Given the description of an element on the screen output the (x, y) to click on. 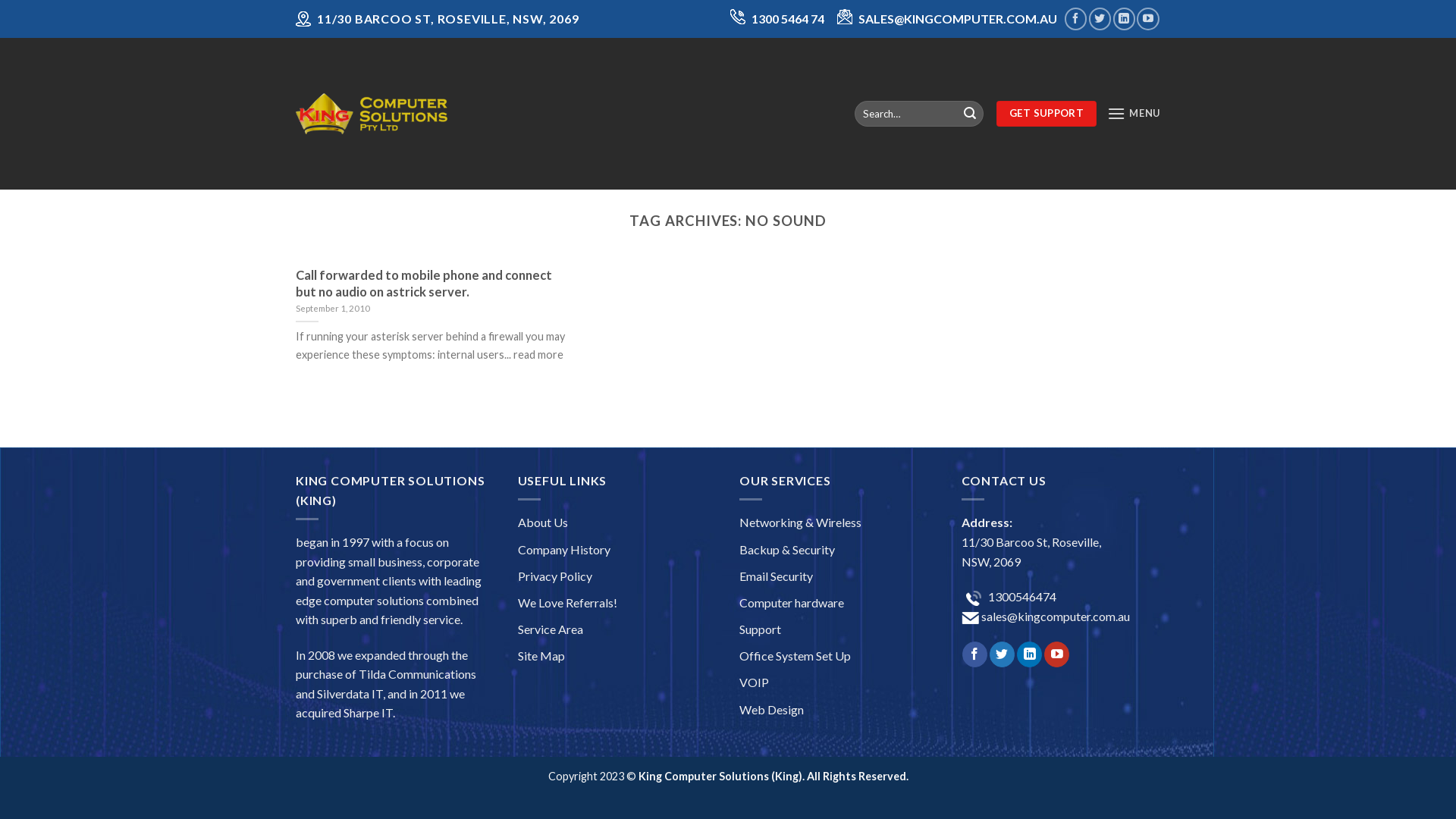
1300546474 Element type: text (1020, 596)
Computer hardware Element type: text (791, 602)
About Us Element type: text (542, 521)
We Love Referrals! Element type: text (566, 602)
Follow on Facebook Element type: hover (1075, 18)
Follow on LinkedIn Element type: hover (1028, 654)
MENU Element type: text (1133, 112)
King Computer Solution Element type: hover (371, 112)
Privacy Policy Element type: text (554, 575)
Service Area Element type: text (549, 628)
Follow on Twitter Element type: hover (1001, 654)
Follow on Twitter Element type: hover (1099, 18)
VOIP Element type: text (753, 681)
Email Security Element type: text (775, 575)
Site Map Element type: text (540, 655)
Web Design Element type: text (771, 709)
Backup & Security Element type: text (786, 548)
sales@kingcomputer.com.au Element type: text (1053, 615)
Networking & Wireless Element type: text (800, 521)
SALES@KINGCOMPUTER.COM.AU Element type: text (957, 18)
Follow on YouTube Element type: hover (1056, 654)
GET SUPPORT Element type: text (1046, 113)
1300 5464 74 Element type: text (787, 18)
Office System Set Up Element type: text (794, 655)
Follow on Facebook Element type: hover (974, 654)
Follow on YouTube Element type: hover (1147, 18)
Follow on LinkedIn Element type: hover (1124, 18)
Company History Element type: text (563, 548)
Support Element type: text (760, 628)
